Given the description of an element on the screen output the (x, y) to click on. 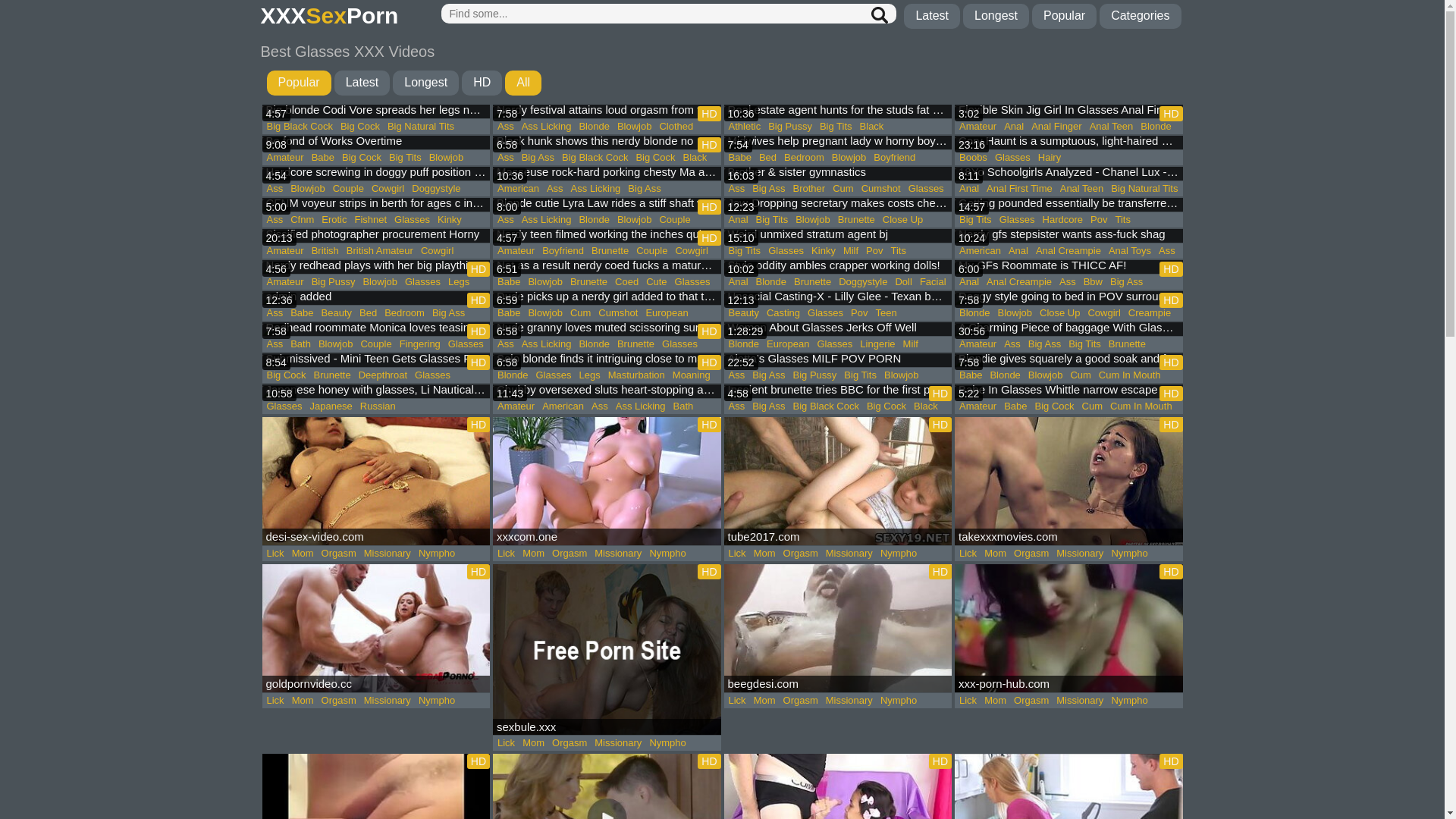
Ass Element type: text (274, 219)
Cowgirl Element type: text (691, 250)
Amateur Element type: text (284, 157)
Bedroom Element type: text (804, 157)
Babe Element type: text (508, 312)
Glasses Element type: text (785, 250)
Ass Licking Element type: text (546, 219)
Cowgirl Element type: text (1103, 312)
Tits Element type: text (898, 250)
Blowjob Element type: text (446, 157)
Real estate agent hunts for the studs fat manmeat
10:36 Element type: text (837, 112)
Fingering Element type: text (419, 343)
Mom Element type: text (533, 553)
Anal Element type: text (1013, 126)
Glasses Element type: text (422, 281)
Babe Element type: text (322, 157)
Mom Element type: text (764, 553)
Blonde Element type: text (593, 219)
Glasses Element type: text (283, 406)
Babe Element type: text (1015, 406)
Brunette Element type: text (1126, 343)
Blowjob Element type: text (901, 374)
Blowjob Element type: text (849, 157)
Categories Element type: text (1139, 15)
Orgasm Element type: text (1031, 700)
Big Cock Element type: text (285, 374)
Big Ass Element type: text (768, 406)
Lick Element type: text (505, 742)
Ass Element type: text (1166, 250)
goldpornvideo.cc
HD Element type: text (376, 628)
Blowjob Element type: text (545, 281)
admin added
12:36
HD Element type: text (376, 298)
Big Pussy Element type: text (789, 126)
Legs Element type: text (458, 281)
Erotic Element type: text (333, 219)
Bath Element type: text (682, 406)
Glasses Element type: text (552, 374)
Ass Element type: text (505, 126)
Pov Element type: text (859, 312)
Orgasm Element type: text (800, 700)
Babe Element type: text (970, 374)
Nympho Element type: text (436, 700)
Amateur Element type: text (284, 250)
Anal Teen Element type: text (1081, 188)
Ass Element type: text (1012, 343)
Big Cock Element type: text (361, 157)
Blowjob Element type: text (379, 281)
Cum Element type: text (1080, 374)
Kinky Element type: text (449, 219)
Glasses Element type: text (1012, 157)
Cute Element type: text (656, 281)
Orgasm Element type: text (338, 553)
Big Tits Element type: text (1084, 343)
Bedroom Element type: text (404, 312)
Ass Element type: text (505, 343)
Anal Element type: text (738, 219)
Mom Element type: text (995, 700)
Russian Element type: text (377, 406)
Blowjob Element type: text (545, 312)
Lick Element type: text (967, 553)
Nympho Element type: text (1129, 553)
Anal Element type: text (1018, 250)
Lick Element type: text (736, 553)
Pov Element type: text (1098, 219)
Fishnet Element type: text (370, 219)
Popular Element type: text (1064, 15)
Glasses Element type: text (432, 374)
Big Tits Element type: text (860, 374)
Ass Element type: text (505, 219)
Masturbation Element type: text (636, 374)
Glasses Element type: text (834, 343)
Big Natural Tits Element type: text (420, 126)
Blonde Element type: text (771, 281)
sexbule.xxx
HD Element type: text (606, 649)
Amateur Element type: text (977, 406)
Big Ass Element type: text (768, 374)
Amateur Element type: text (515, 406)
XXXSexPorn Element type: text (329, 16)
desi-sex-video.com
HD Element type: text (376, 481)
Brunette Element type: text (609, 250)
Amateur Element type: text (977, 343)
Glasses Element type: text (679, 343)
Brother Element type: text (809, 188)
Longest Element type: text (425, 82)
Anal Creampie Element type: text (1018, 281)
Blowjob Element type: text (1045, 374)
Ass Element type: text (599, 406)
Nympho Element type: text (898, 553)
European Element type: text (787, 343)
Big Cock Element type: text (654, 157)
Search X Videos Element type: hover (668, 13)
Big Ass Element type: text (768, 188)
Anal Element type: text (738, 281)
American Element type: text (517, 188)
Aletta's Glasses MILF POV PORN
22:52 Element type: text (837, 360)
Glasses Element type: text (1016, 219)
Moaning Element type: text (691, 374)
Popular Element type: text (298, 82)
Ass Element type: text (736, 406)
Teen Element type: text (885, 312)
Orgasm Element type: text (1031, 553)
Black Element type: text (872, 126)
Big Tits Element type: text (772, 219)
Anal Element type: text (968, 188)
Ass Element type: text (554, 188)
Babe Element type: text (301, 312)
Black Element type: text (925, 406)
Beauty Element type: text (743, 312)
Ass Licking Element type: text (595, 188)
Mom Element type: text (302, 700)
Latest Element type: text (362, 82)
Mom Element type: text (533, 742)
Cum Element type: text (842, 188)
Missionary Element type: text (617, 742)
Facial Element type: text (933, 281)
Sissified photographer procurement Horny
20:13 Element type: text (376, 236)
Big Cock Element type: text (1054, 406)
British Element type: text (324, 250)
Big Tits Element type: text (975, 219)
Close Up Element type: text (1059, 312)
Big Natural Tits Element type: text (1144, 188)
Submissived - Mini Teen Gets Glasses Fucked Off
8:54
HD Element type: text (376, 360)
Babe Element type: text (508, 281)
Nympho Element type: text (1129, 700)
Couple Element type: text (651, 250)
Be fond of Works Overtime
9:08 Element type: text (376, 143)
Blonde Element type: text (1155, 126)
Blonde Element type: text (593, 343)
Doll Element type: text (903, 281)
Anal First Time Element type: text (1019, 188)
Missionary Element type: text (387, 700)
American Element type: text (979, 250)
Orgasm Element type: text (569, 553)
Cum In Mouth Element type: text (1141, 406)
xxx-porn-hub.com
HD Element type: text (1068, 628)
Amateur Element type: text (515, 250)
European Element type: text (666, 312)
Big Pussy Element type: text (814, 374)
Ass Licking Element type: text (640, 406)
Hairy Element type: text (1049, 157)
Brother & sister gymnastics
16:03 Element type: text (837, 174)
Ass Element type: text (274, 343)
Mom Element type: text (302, 553)
Brunette Element type: text (812, 281)
Japanese Element type: text (330, 406)
Ass Element type: text (274, 188)
Orgasm Element type: text (569, 742)
Ass Licking Element type: text (546, 343)
Brunette Element type: text (332, 374)
Orgasm Element type: text (800, 553)
Blonde Element type: text (593, 126)
Nympho Element type: text (667, 553)
Missionary Element type: text (1079, 553)
Mom Element type: text (995, 553)
Midwives help pregnant lady w horny boyfriend!
7:54 Element type: text (837, 143)
Creampie Element type: text (1149, 312)
Bed Element type: text (767, 157)
Anal Toys Element type: text (1129, 250)
Glasses Element type: text (825, 312)
Glasses Element type: text (692, 281)
Blowjob Element type: text (634, 219)
Amateur Element type: text (284, 281)
Blonde Element type: text (974, 312)
Cowgirl Element type: text (437, 250)
Boobs Element type: text (973, 157)
Amateur Element type: text (977, 126)
Ass Element type: text (505, 157)
Lick Element type: text (736, 700)
Jaw-Dropping secretary makes costs cheat w relief!
12:23 Element type: text (837, 205)
Casting Element type: text (782, 312)
Cfnm Element type: text (301, 219)
Anal Finger Element type: text (1056, 126)
Close Up Element type: text (902, 219)
Bbw Element type: text (1092, 281)
Couple Element type: text (375, 343)
Tits Element type: text (1121, 219)
Black Element type: text (694, 157)
Blowjob Element type: text (634, 126)
Bath Element type: text (300, 343)
Getting pounded essentially be transferred to couch
14:57 Element type: text (1068, 205)
Big Ass Element type: text (448, 312)
HD Element type: text (481, 82)
Blonde Element type: text (743, 343)
Big Cock Element type: text (886, 406)
All Element type: text (523, 82)
Athletic Element type: text (744, 126)
Big Tits Element type: text (405, 157)
Mom Element type: text (764, 700)
Lick Element type: text (505, 553)
Blonde Element type: text (1004, 374)
Cumshot Element type: text (617, 312)
Missionary Element type: text (849, 553)
Chubby oversexed sluts heart-stopping adult clip
11:43 Element type: text (606, 391)
tube2017.com
HD Element type: text (837, 481)
Babe Element type: text (739, 157)
Milf Element type: text (910, 343)
Blowjob Element type: text (1014, 312)
Deepthroat Element type: text (382, 374)
Missionary Element type: text (387, 553)
Couple Element type: text (674, 219)
Brunette Element type: text (588, 281)
Pov Element type: text (874, 250)
Cowgirl Element type: text (387, 188)
Cum Element type: text (1092, 406)
Missionary Element type: text (1079, 700)
Doggystyle Element type: text (862, 281)
Big Black Cock Element type: text (298, 126)
Doggystyle Element type: text (435, 188)
Couple Element type: text (348, 188)
Nympho Element type: text (436, 553)
beegdesi.com
HD Element type: text (837, 628)
Lingerie Element type: text (877, 343)
Anal Creampie Element type: text (1068, 250)
British Amateur Element type: text (379, 250)
Missionary Element type: text (849, 700)
Lick Element type: text (274, 700)
Hardcore Element type: text (1062, 219)
Ass Element type: text (736, 188)
Orgasm Element type: text (338, 700)
Big Ass Element type: text (537, 157)
Glasses Element type: text (925, 188)
Big Black Cock Element type: text (825, 406)
Big Ass Element type: text (1044, 343)
Big Cock Element type: text (359, 126)
Milf Element type: text (850, 250)
Ass Element type: text (1067, 281)
Glasses Element type: text (465, 343)
takexxxmovies.com
HD Element type: text (1068, 481)
Legs Element type: text (588, 374)
Ass Element type: text (736, 374)
Boyfriend Element type: text (894, 157)
Bed Element type: text (367, 312)
Ass Licking Element type: text (546, 126)
Nympho Element type: text (898, 700)
Nympho Element type: text (667, 742)
Latest Element type: text (931, 15)
Coed Element type: text (626, 281)
Big Pussy Element type: text (333, 281)
Woman About Glasses Jerks Off Well
1:28:29 Element type: text (837, 329)
Blowjob Element type: text (307, 188)
Brunette Element type: text (856, 219)
Anal Element type: text (968, 281)
Missionary Element type: text (617, 553)
Beauty Element type: text (336, 312)
Glasses Element type: text (411, 219)
American Element type: text (562, 406)
Lick Element type: text (967, 700)
Cumshot Element type: text (880, 188)
Nerdy gfs stepsister wants ass-fuck shag
10:24 Element type: text (1068, 236)
Longest Element type: text (996, 15)
xxxcom.one
HD Element type: text (606, 481)
Cum Element type: text (580, 312)
Big Ass Element type: text (644, 188)
Cum In Mouth Element type: text (1129, 374)
Anal Teen Element type: text (1111, 126)
Ass Element type: text (274, 312)
Lick Element type: text (274, 553)
Big Black Cock Element type: text (594, 157)
My GFs Roommate is THICC AF!
6:00
HD Element type: text (1068, 267)
Blonde Element type: text (512, 374)
Boyfriend Element type: text (562, 250)
Style oddity ambles crapper working dolls!
10:02 Element type: text (837, 267)
Clothed Element type: text (675, 126)
Big Ass Element type: text (1126, 281)
Brunette Element type: text (635, 343)
Blowjob Element type: text (335, 343)
Weird unmixed stratum agent bj
15:10 Element type: text (837, 236)
Big Tits Element type: text (835, 126)
Big Tits Element type: text (744, 250)
Kinky Element type: text (823, 250)
Blowjob Element type: text (812, 219)
